Given the description of an element on the screen output the (x, y) to click on. 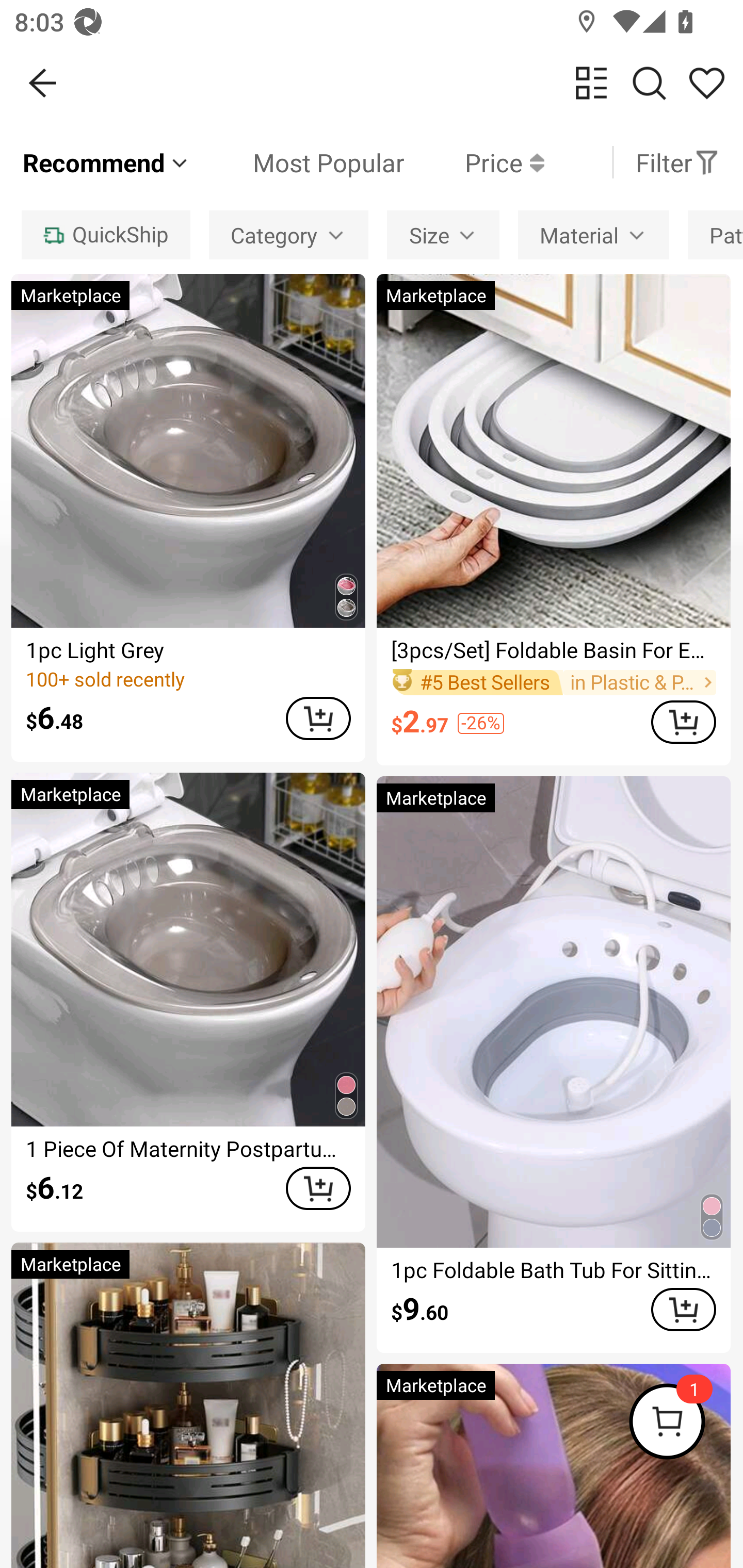
change view (591, 82)
Search (648, 82)
Share (706, 82)
Recommend (106, 162)
Most Popular (297, 162)
Price (474, 162)
Filter (677, 162)
QuickShip (105, 234)
Category (288, 234)
Size (443, 234)
Material (593, 234)
#5 Best Sellers in Plastic & Portable Basins (553, 681)
ADD TO CART (318, 718)
ADD TO CART (683, 721)
ADD TO CART (318, 1188)
ADD TO CART (683, 1309)
